Given the description of an element on the screen output the (x, y) to click on. 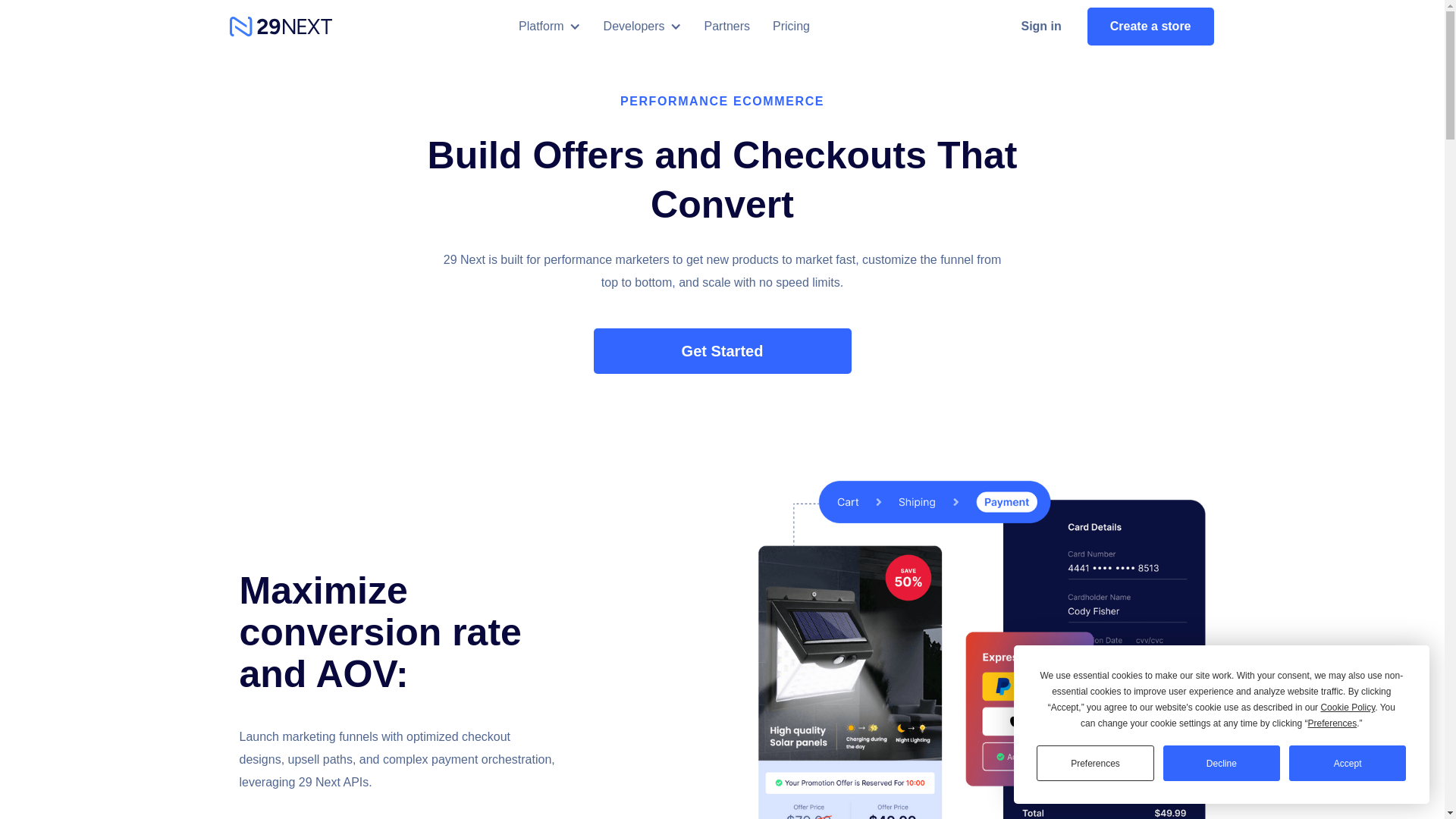
Decline Element type: text (1221, 763)
Create a store Element type: text (1150, 26)
Partners Element type: text (727, 26)
Pricing Element type: text (791, 26)
Accept Element type: text (1347, 763)
Preferences Element type: text (1094, 763)
Sign in Element type: text (1040, 26)
Get Started Element type: text (721, 350)
